Given the description of an element on the screen output the (x, y) to click on. 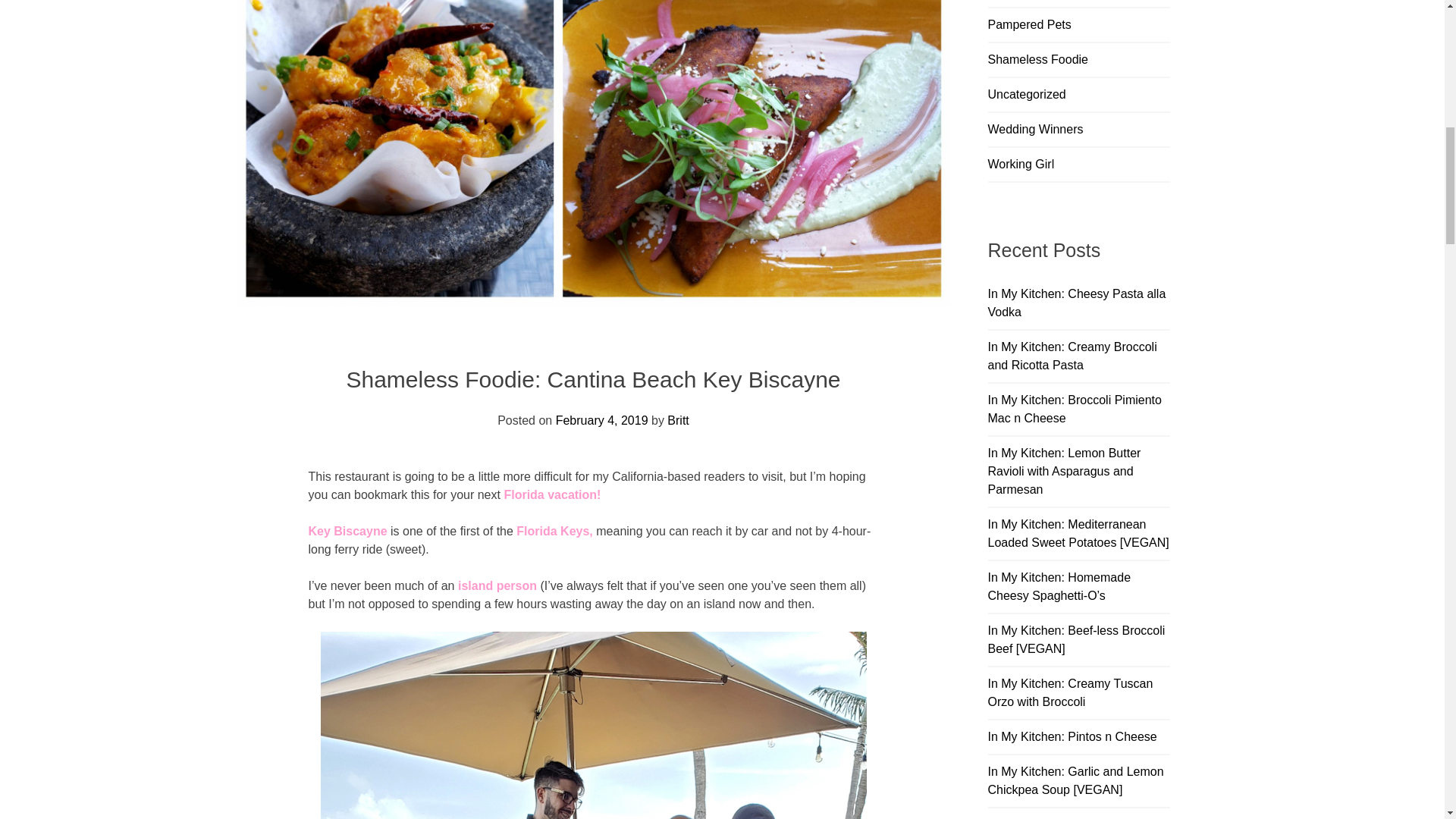
Pampered Pets (1028, 24)
Britt (677, 420)
Working Girl (1020, 164)
In My Kitchen: Broccoli Pimiento Mac n Cheese (1073, 409)
Uncategorized (1026, 93)
In My Kitchen: Creamy Broccoli and Ricotta Pasta (1071, 355)
Shameless Foodie (1037, 59)
Wedding Winners (1035, 128)
February 4, 2019 (601, 420)
In My Kitchen: Cheesy Pasta alla Vodka (1076, 302)
